Given the description of an element on the screen output the (x, y) to click on. 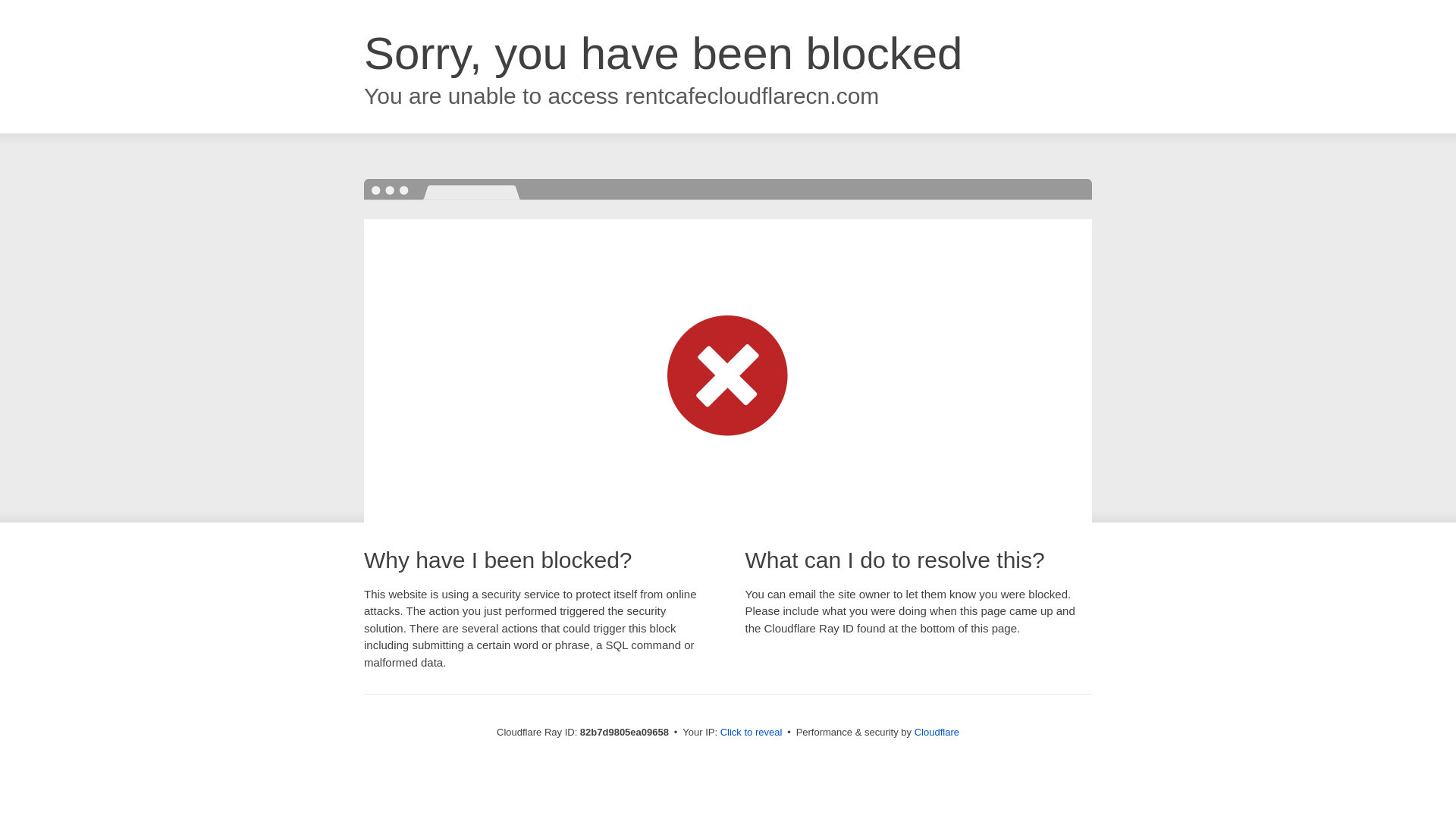
Cloudflare Element type: text (936, 731)
Click to reveal Element type: text (751, 732)
